Given the description of an element on the screen output the (x, y) to click on. 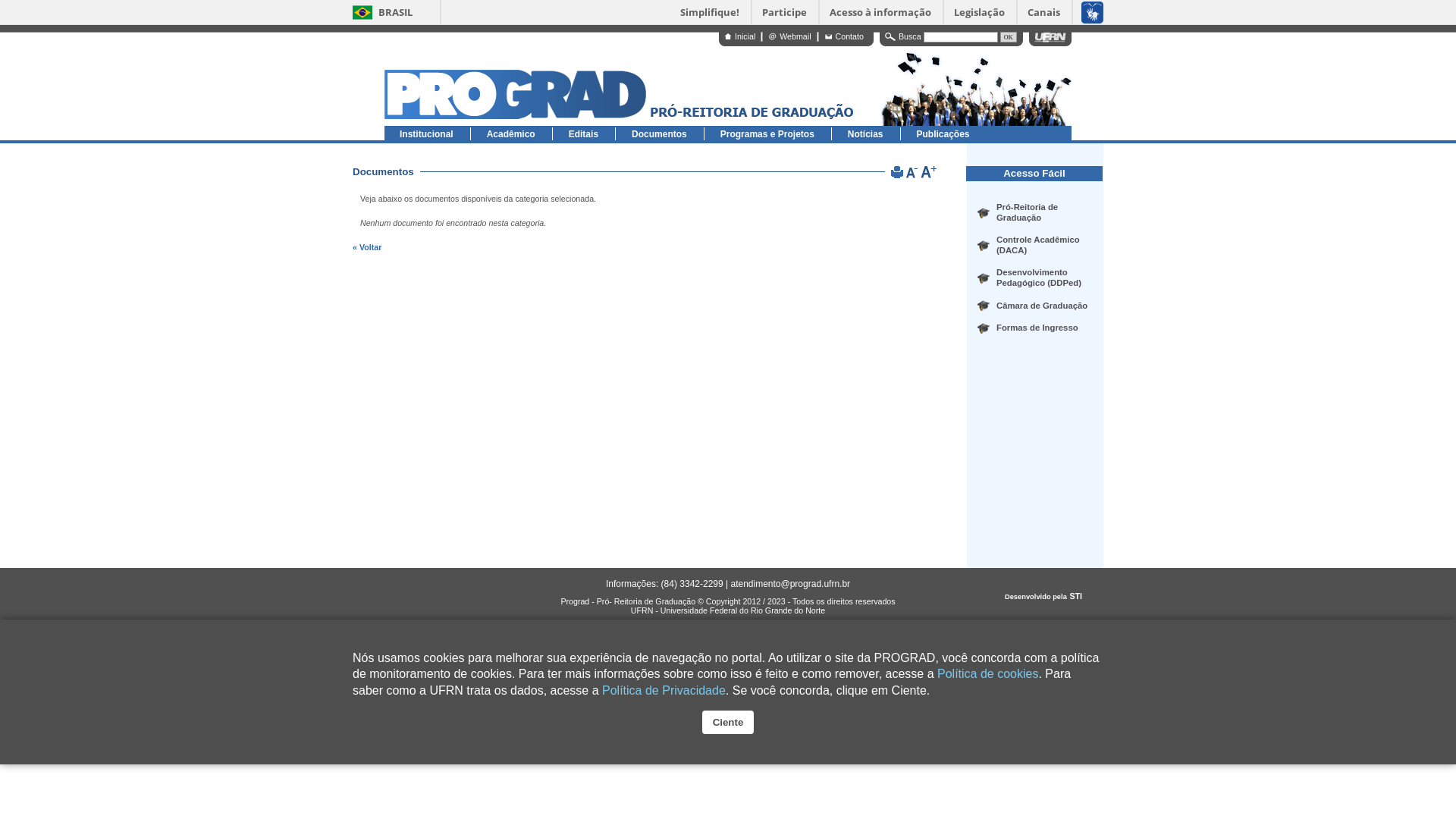
UFRN - Universidade Federal do Rio Grande do Norte Element type: text (727, 610)
Formas de Ingresso Element type: text (1037, 327)
Contato Element type: text (844, 36)
Diminuir fonte Element type: hover (912, 174)
BRASIL Element type: text (381, 12)
Programas e Projetos Element type: text (767, 133)
Inicial Element type: text (739, 36)
Ciente Element type: text (728, 722)
Acesse o Portal da UFRN Element type: hover (1050, 36)
Webmail Element type: text (789, 36)
STI Element type: text (1075, 595)
Institucional Element type: text (427, 133)
Aumentar fonte Element type: hover (928, 174)
atendimento@prograd.ufrn.br Element type: text (790, 583)
OK Element type: text (1008, 36)
Documentos Element type: text (659, 133)
Editais Element type: text (583, 133)
